Given the description of an element on the screen output the (x, y) to click on. 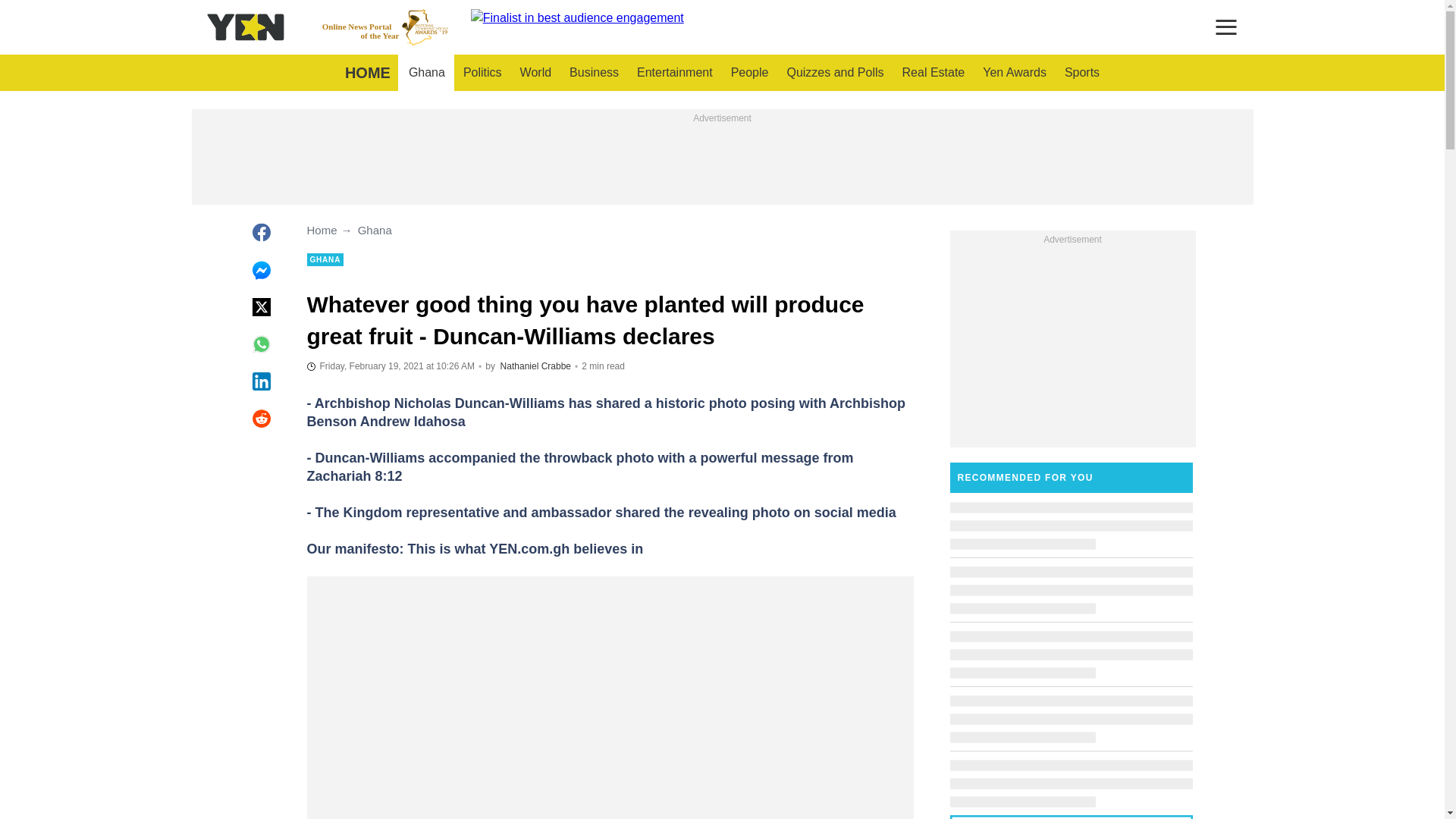
Real Estate (933, 72)
Politics (384, 27)
Author page (482, 72)
Quizzes and Polls (535, 366)
Yen Awards (834, 72)
Sports (1014, 72)
World (1081, 72)
HOME (535, 72)
2021-02-19T10:26:09Z (367, 72)
Entertainment (389, 366)
Ghana (674, 72)
People (426, 72)
Business (749, 72)
